Given the description of an element on the screen output the (x, y) to click on. 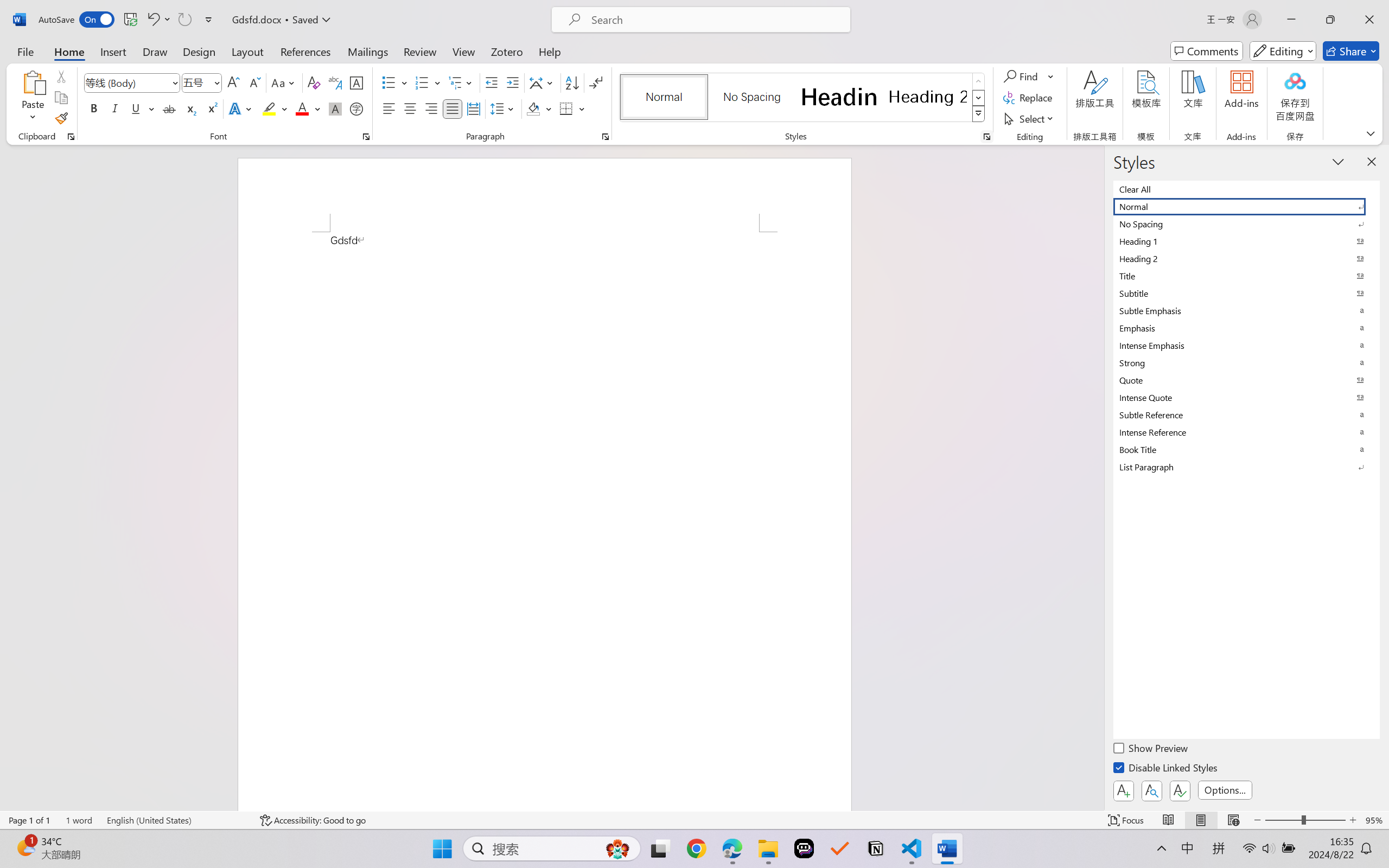
Clear Formatting (313, 82)
Align Left (388, 108)
Phonetic Guide... (334, 82)
List Paragraph (1246, 466)
Font... (365, 136)
Character Border (356, 82)
Change Case (284, 82)
Heading 2 (927, 96)
Title (1246, 275)
Task Pane Options (1338, 161)
